Given the description of an element on the screen output the (x, y) to click on. 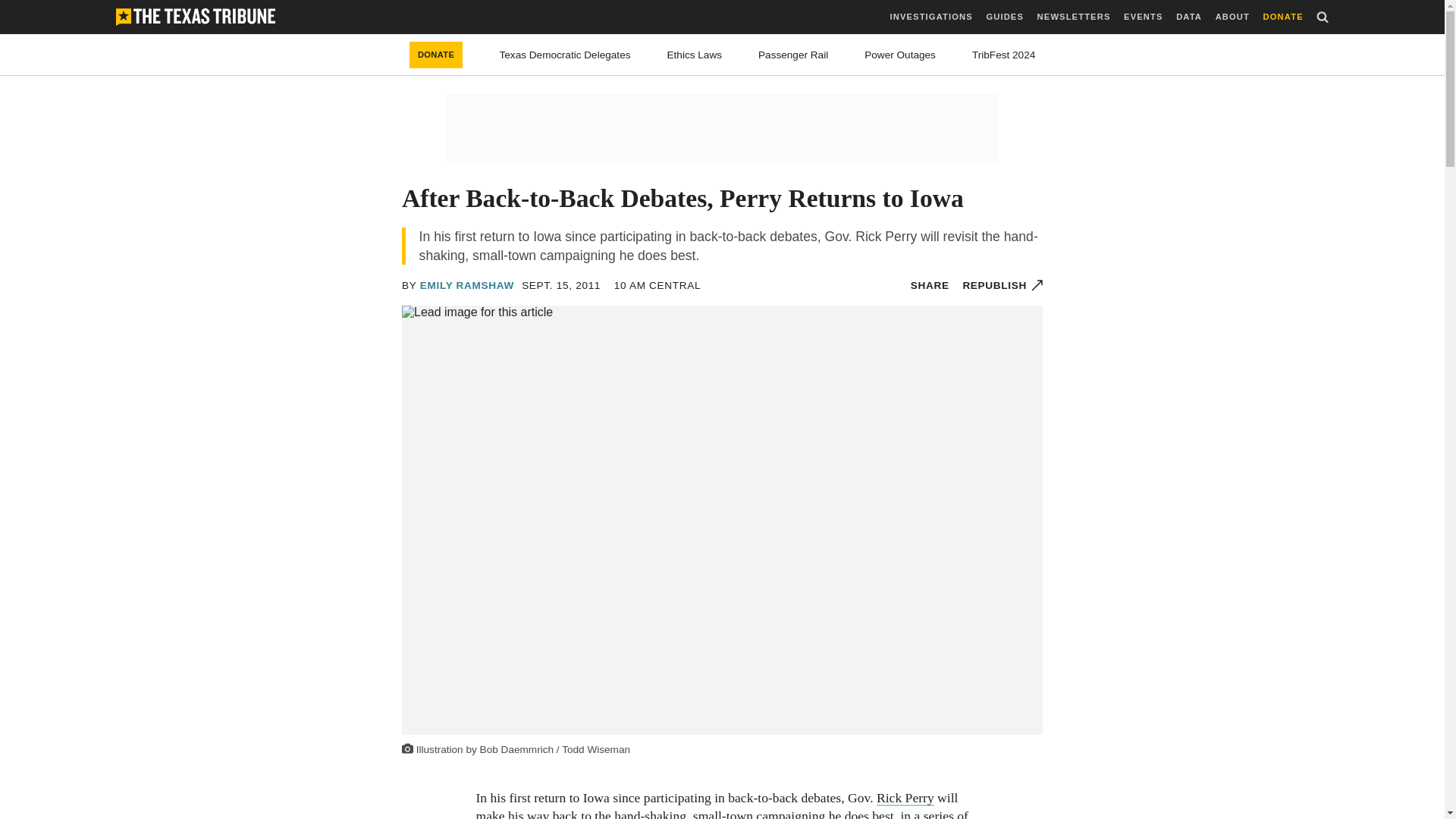
INVESTIGATIONS (930, 17)
REPUBLISH (1002, 285)
TribFest 2024 (1003, 54)
DONATE (1283, 17)
NEWSLETTERS (1073, 17)
Power Outages (900, 54)
EMILY RAMSHAW (466, 285)
Rick Perry (905, 797)
Ethics Laws (694, 54)
DONATE (436, 54)
DATA (1189, 17)
2011-09-15 10:09 CDT (657, 285)
2011-09-15 10:09 CDT (560, 285)
ABOUT (1232, 17)
Texas Democratic Delegates (564, 54)
